Given the description of an element on the screen output the (x, y) to click on. 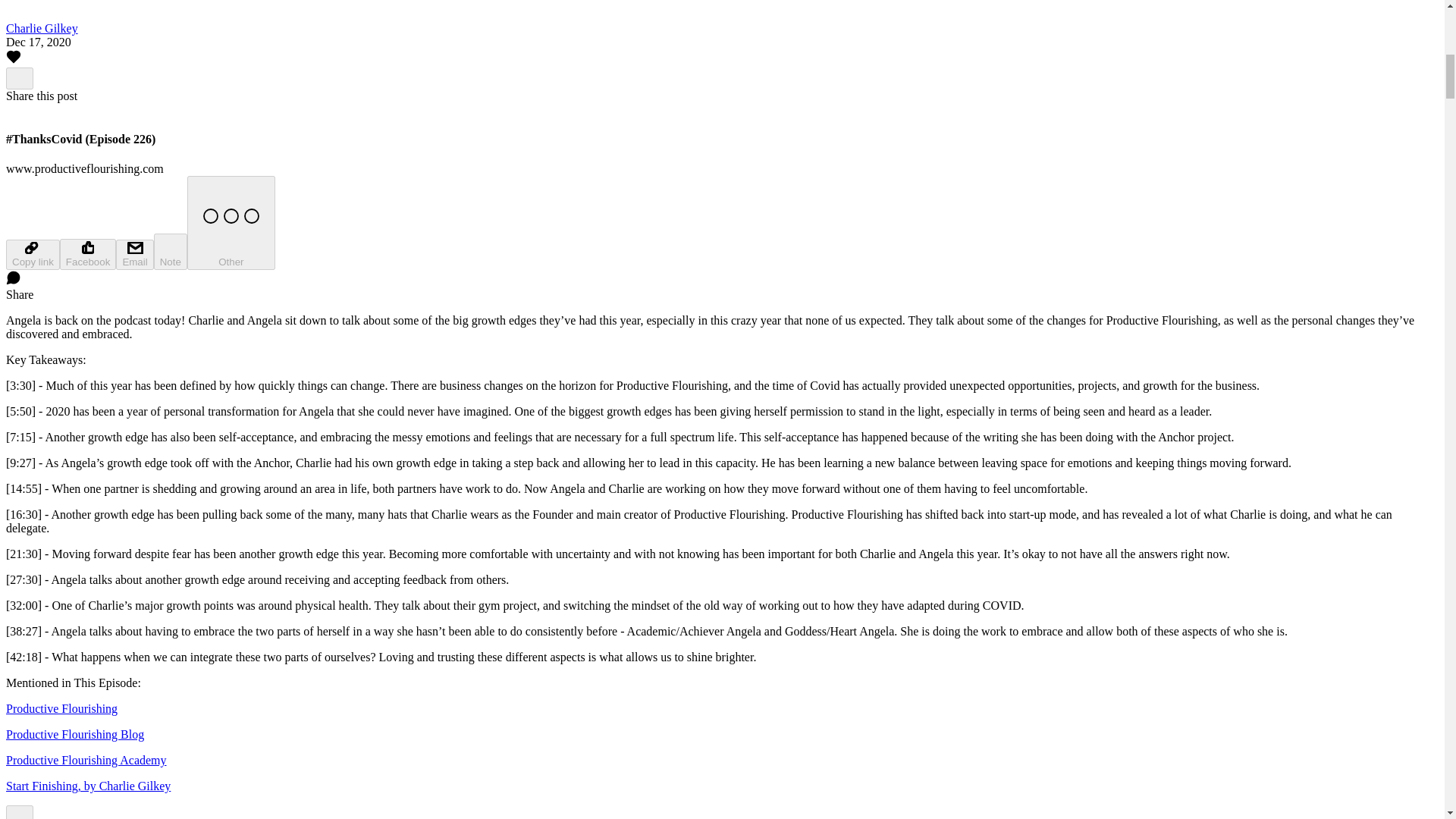
Email (134, 254)
Productive Flourishing Academy (86, 759)
Other (231, 223)
Copy link (32, 254)
Productive Flourishing Blog (74, 734)
Note (170, 251)
Productive Flourishing (61, 707)
Charlie Gilkey (41, 28)
Start Finishing, by Charlie Gilkey (87, 785)
Facebook (87, 254)
